Given the description of an element on the screen output the (x, y) to click on. 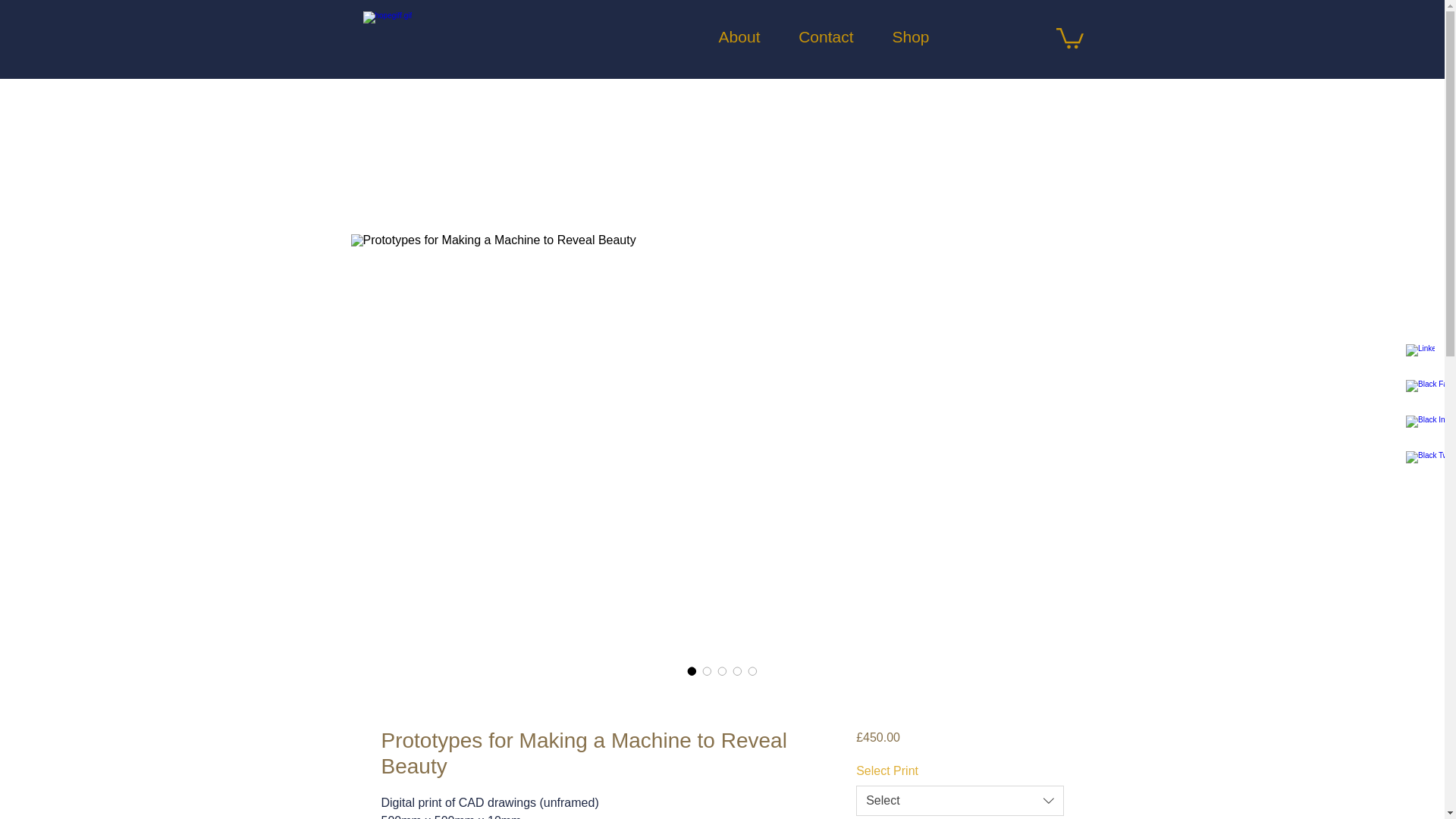
About (727, 36)
Select (959, 800)
Shop (899, 36)
Hope trans white.png (405, 37)
Contact (813, 36)
